Given the description of an element on the screen output the (x, y) to click on. 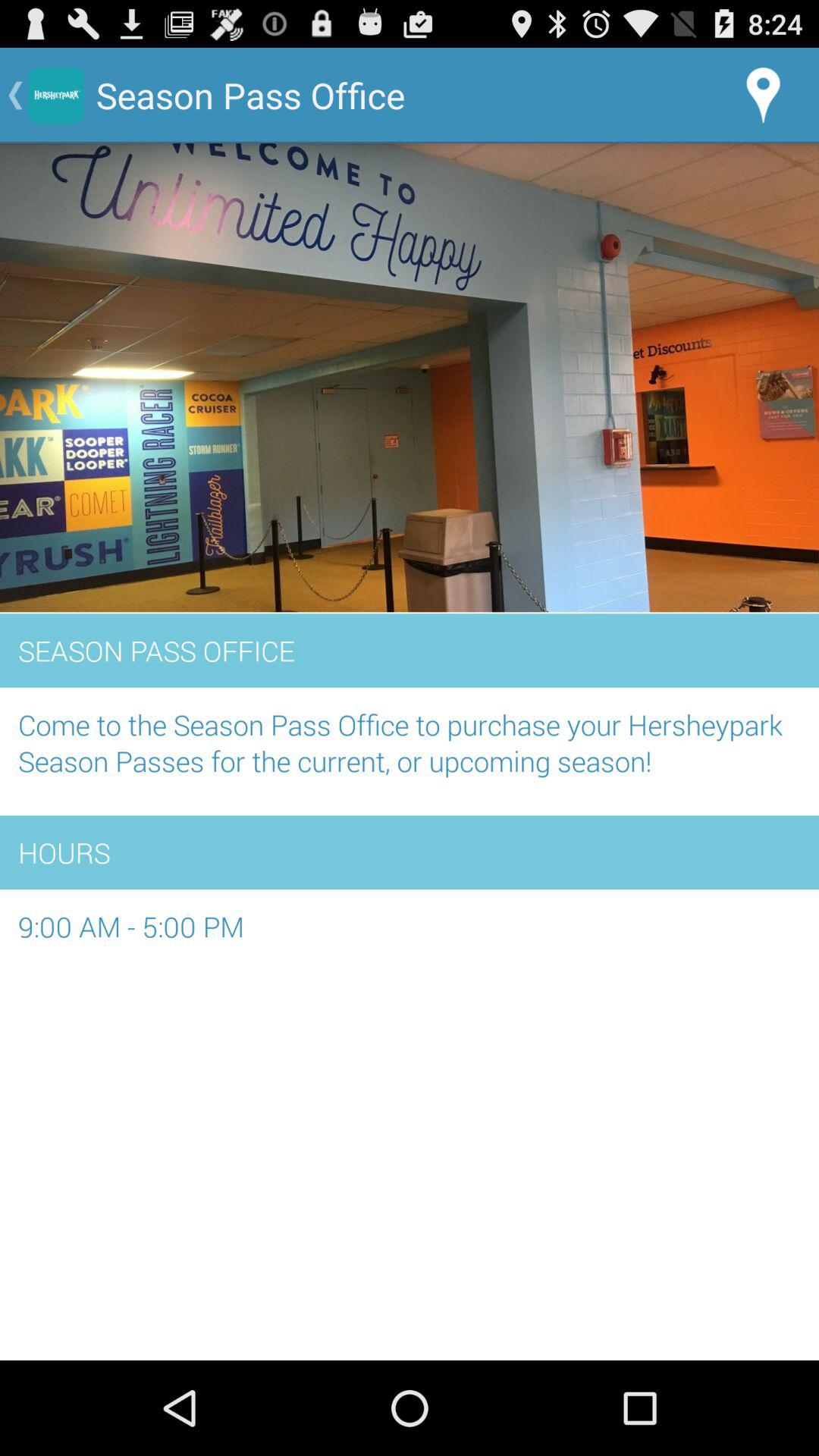
press icon at the top right corner (763, 95)
